Given the description of an element on the screen output the (x, y) to click on. 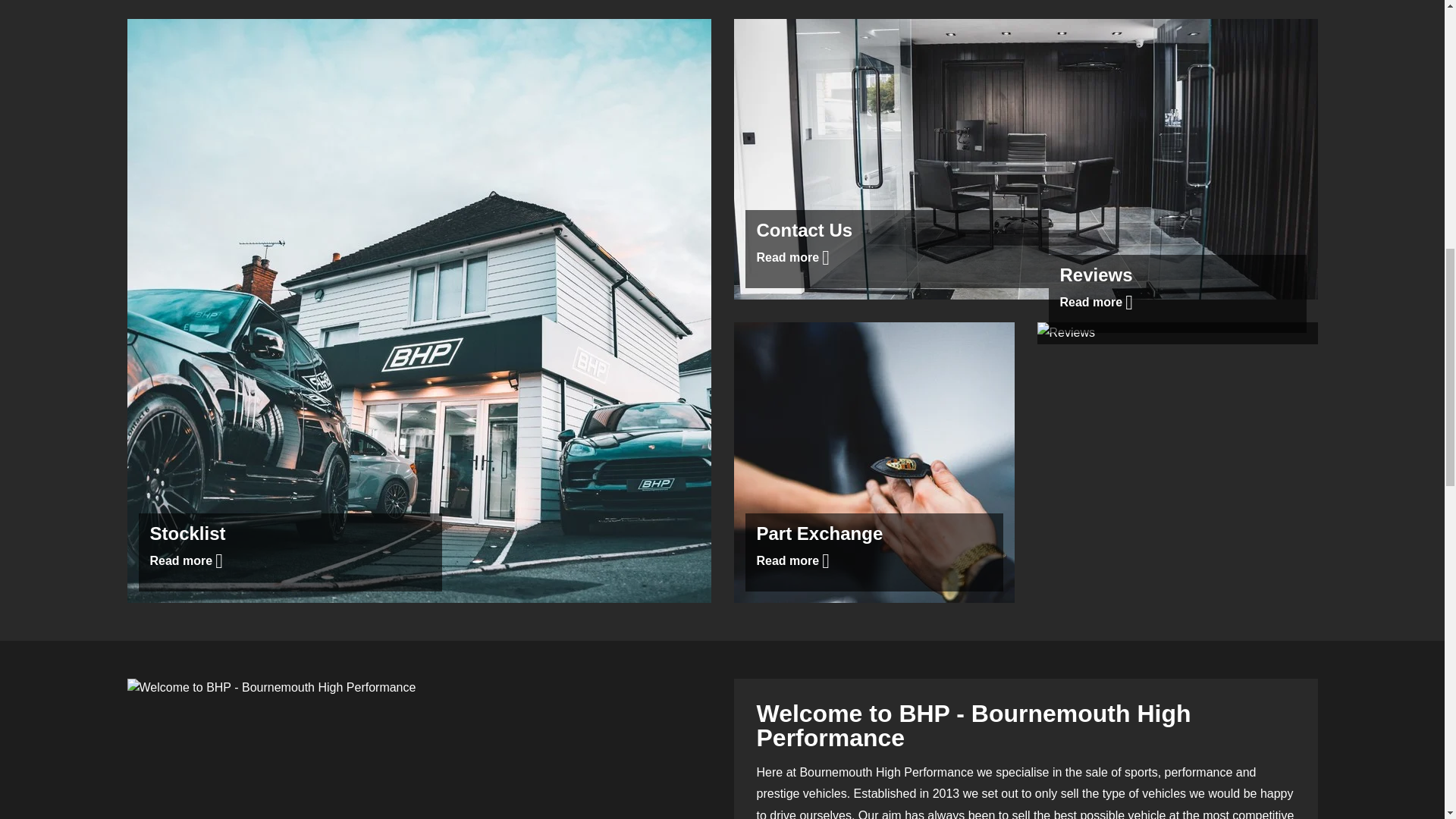
Read more (1096, 301)
Read more (793, 559)
Read more (186, 559)
Read more (793, 256)
